Given the description of an element on the screen output the (x, y) to click on. 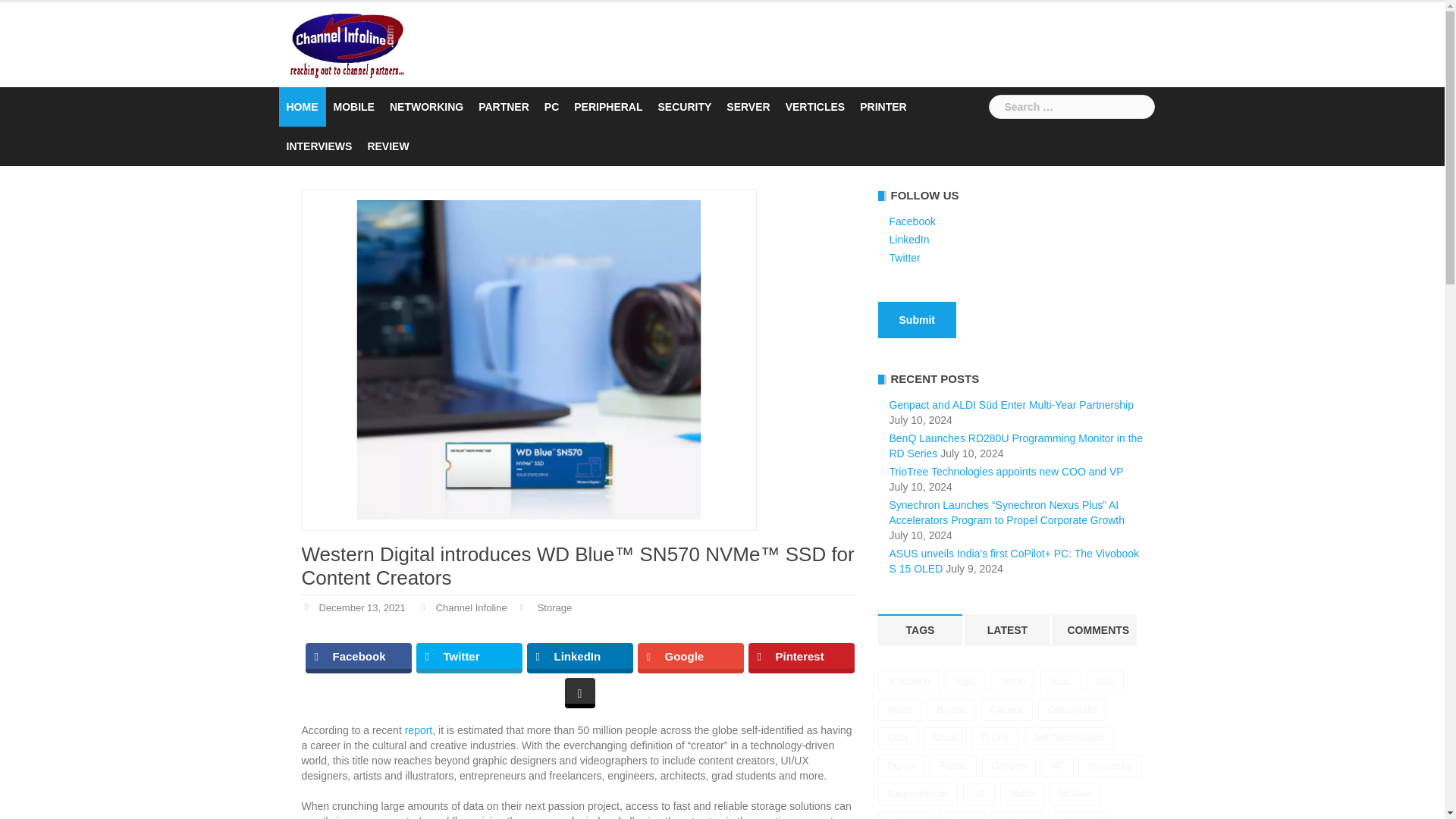
Channel Infoline (470, 607)
TAGS (919, 630)
INTERVIEWS (319, 146)
BenQ Launches RD280U Programming Monitor in the RD Series (1015, 445)
VERTICLES (815, 106)
SERVER (748, 106)
SECURITY (684, 106)
MOBILE (353, 106)
Channel Infoline (346, 44)
